Given the description of an element on the screen output the (x, y) to click on. 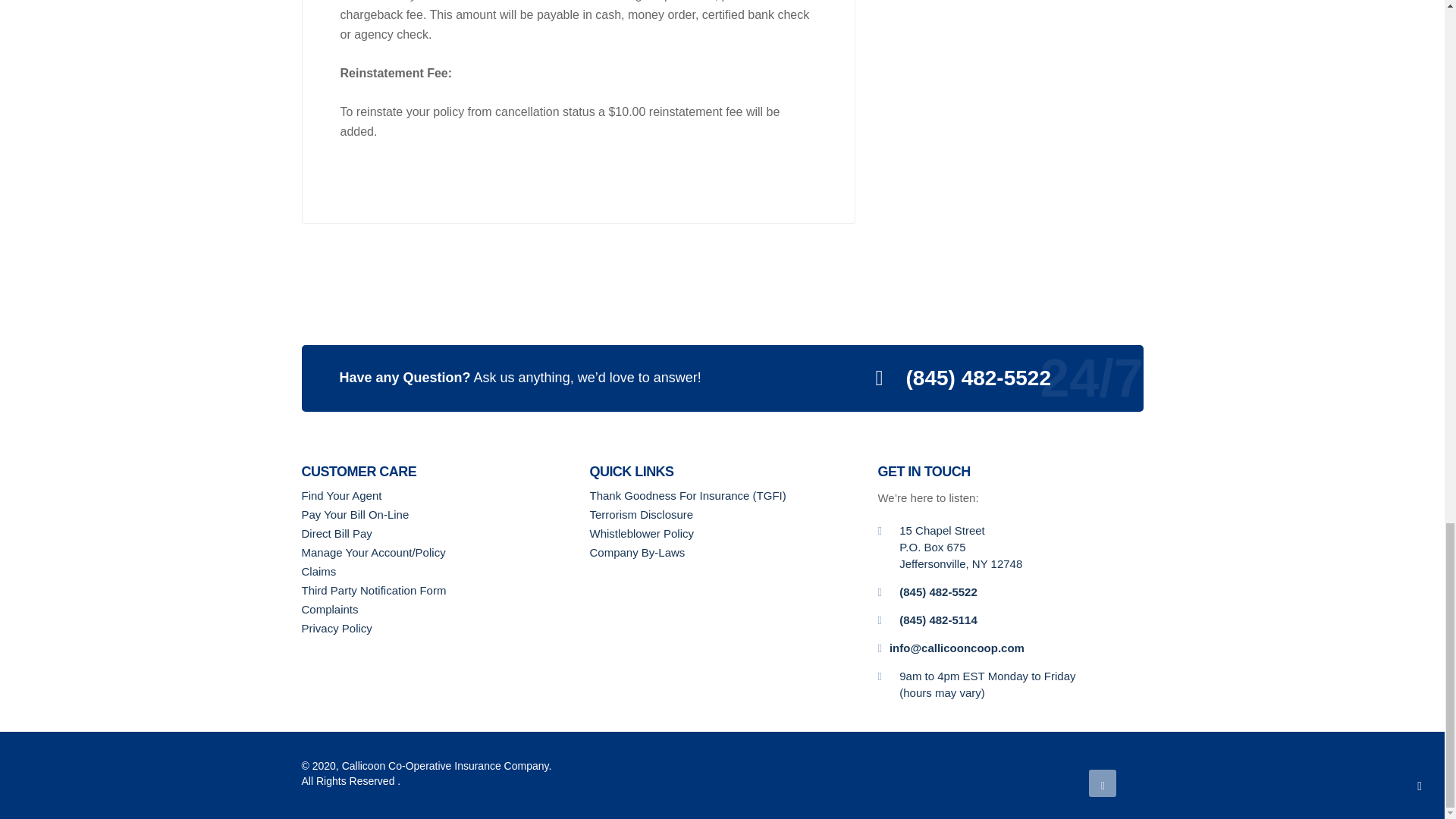
Find Your Agent (434, 495)
Direct Bill Pay (434, 533)
Pay Your Bill On-Line (434, 514)
